Given the description of an element on the screen output the (x, y) to click on. 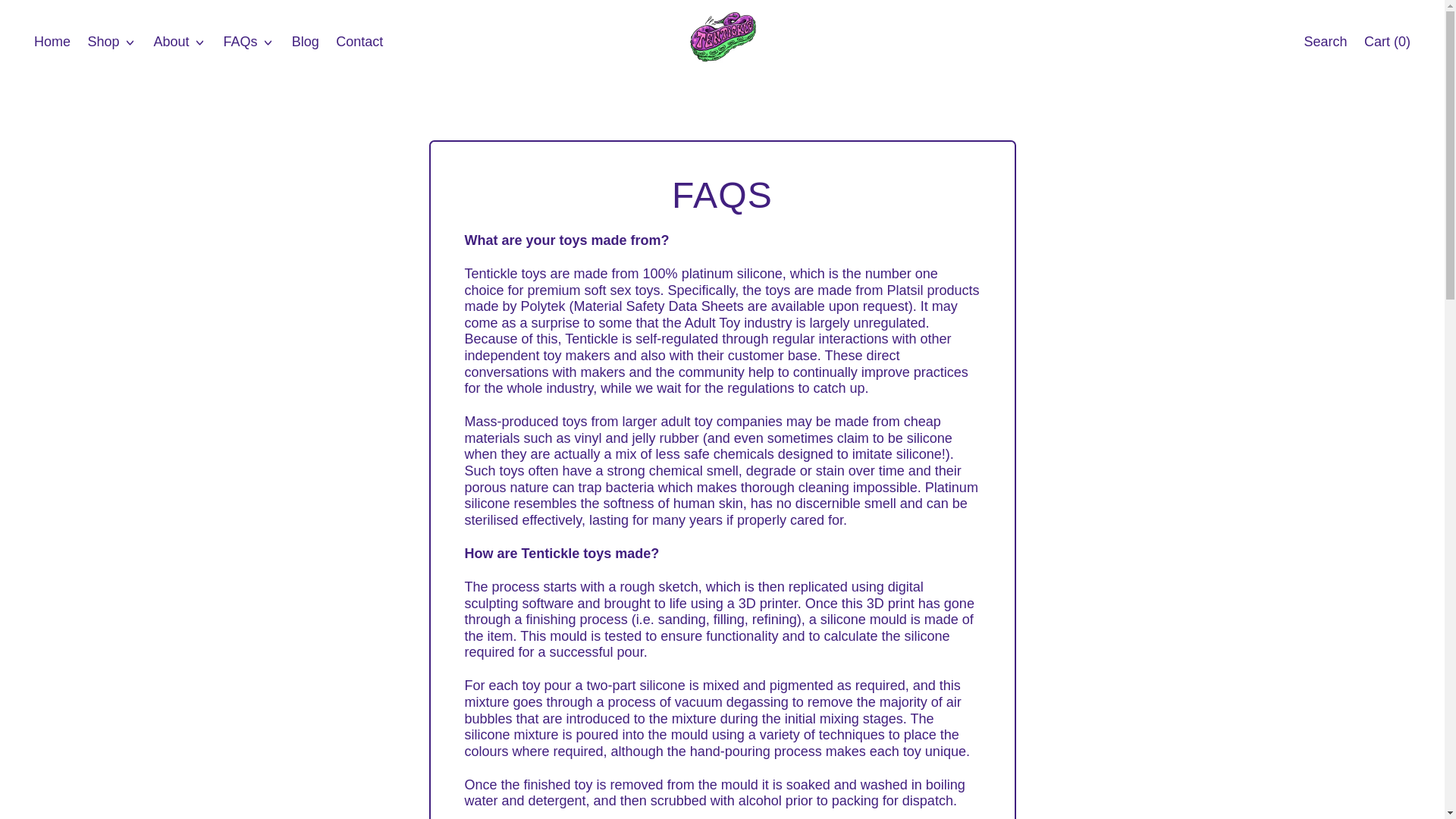
Shop (111, 42)
About (179, 42)
FAQs (248, 42)
Home (53, 42)
Contact (1325, 42)
